Given the description of an element on the screen output the (x, y) to click on. 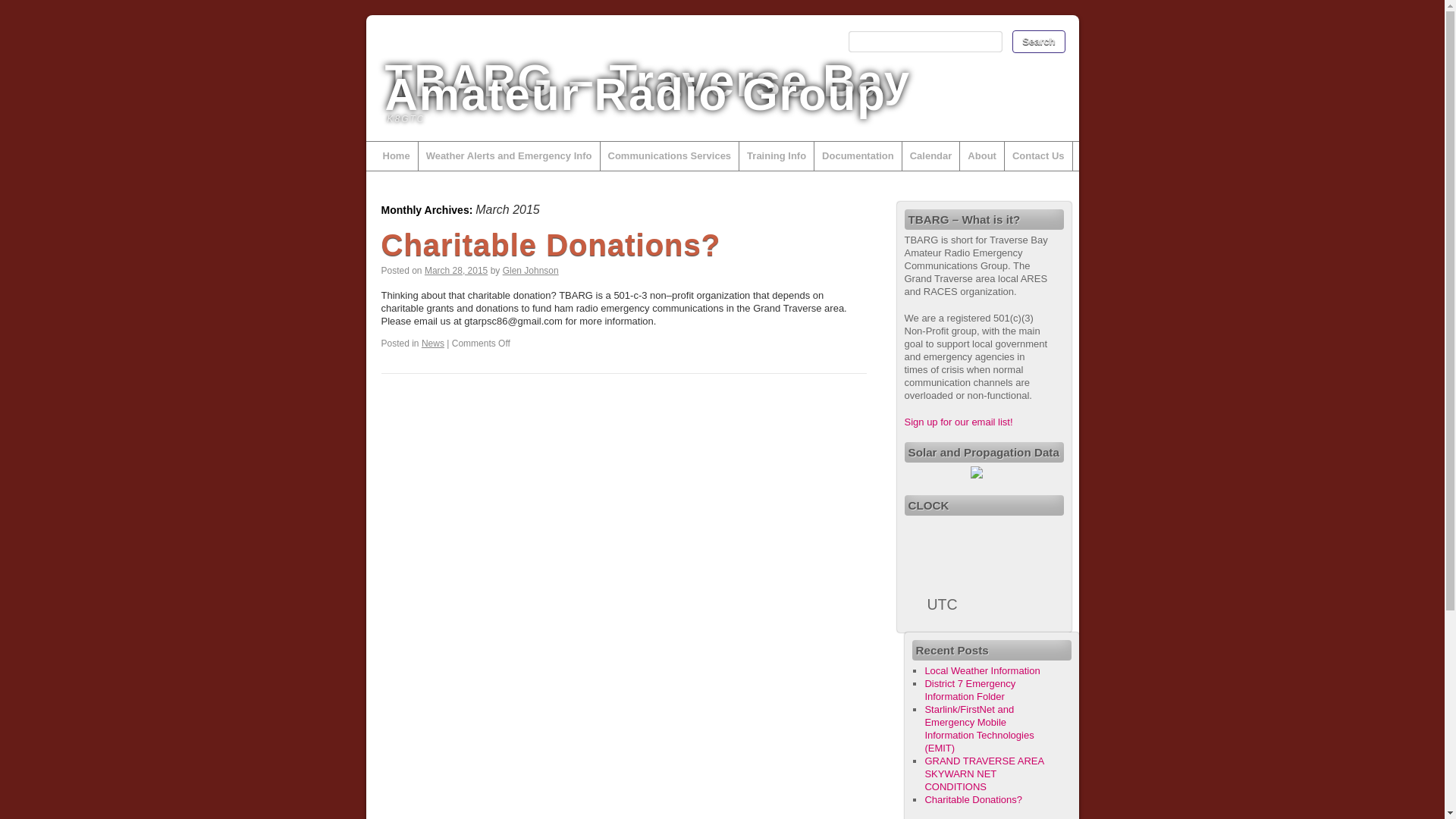
Weather Alerts and Emergency Info (509, 155)
About (981, 155)
Documentation (857, 155)
GRAND TRAVERSE AREA SKYWARN NET CONDITIONS (983, 773)
View all posts by Glen Johnson (530, 270)
Contact Us (1038, 155)
Glen Johnson (530, 270)
Click to add Solar-Terrestrial Data to your website! (976, 474)
Communications Services (669, 155)
Training Info (776, 155)
Sign up for our email list! (957, 421)
Calendar (931, 155)
Search (1037, 41)
Charitable Donations? (973, 799)
March 28, 2015 (456, 270)
